Given the description of an element on the screen output the (x, y) to click on. 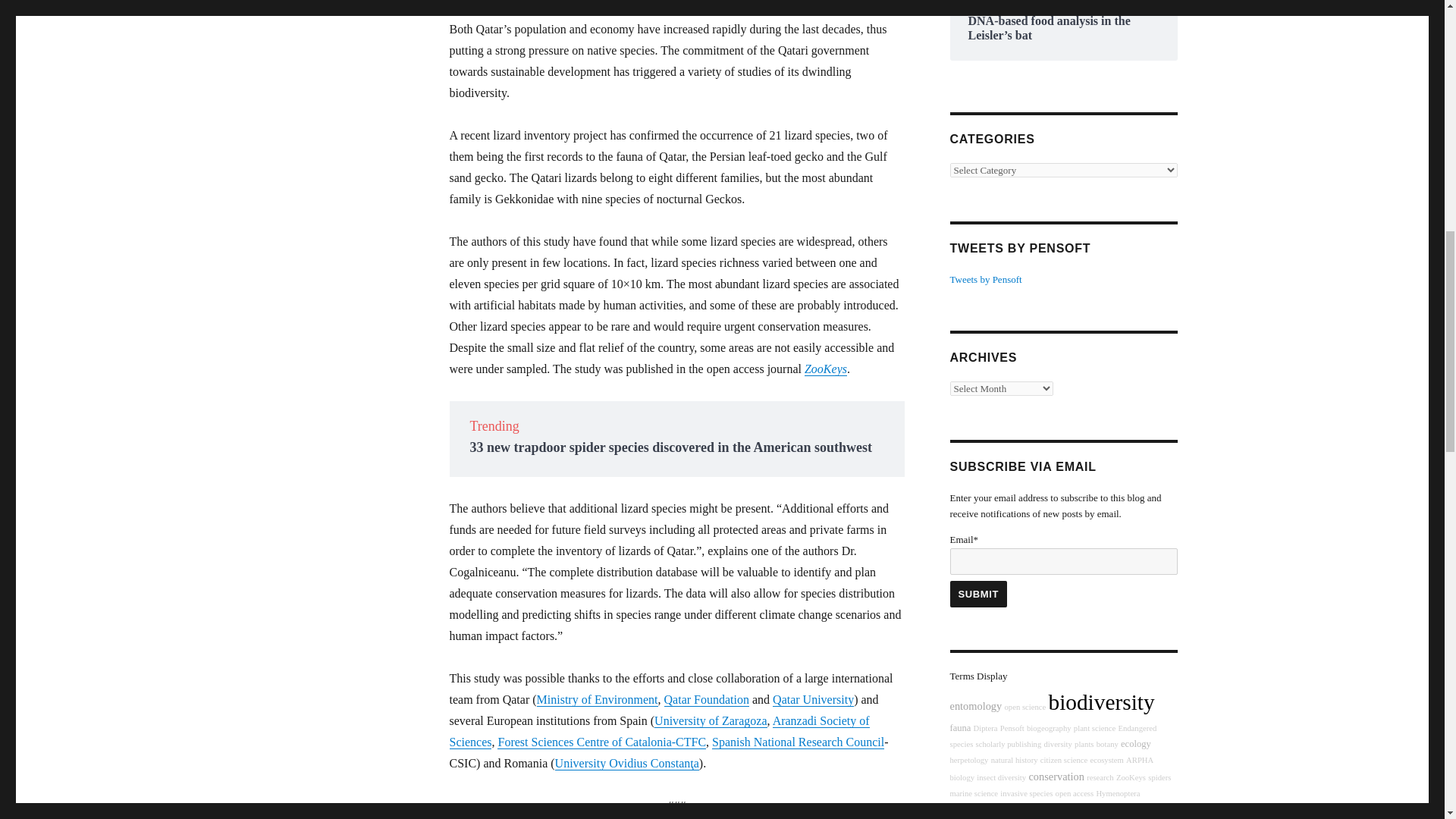
Submit (978, 593)
35 topics (1024, 706)
151 topics (975, 705)
54 topics (1012, 727)
22 topics (985, 727)
Qatar University (813, 698)
Spanish National Research Council (797, 741)
75 topics (960, 727)
484 topics (1101, 702)
62 topics (1008, 744)
